Given the description of an element on the screen output the (x, y) to click on. 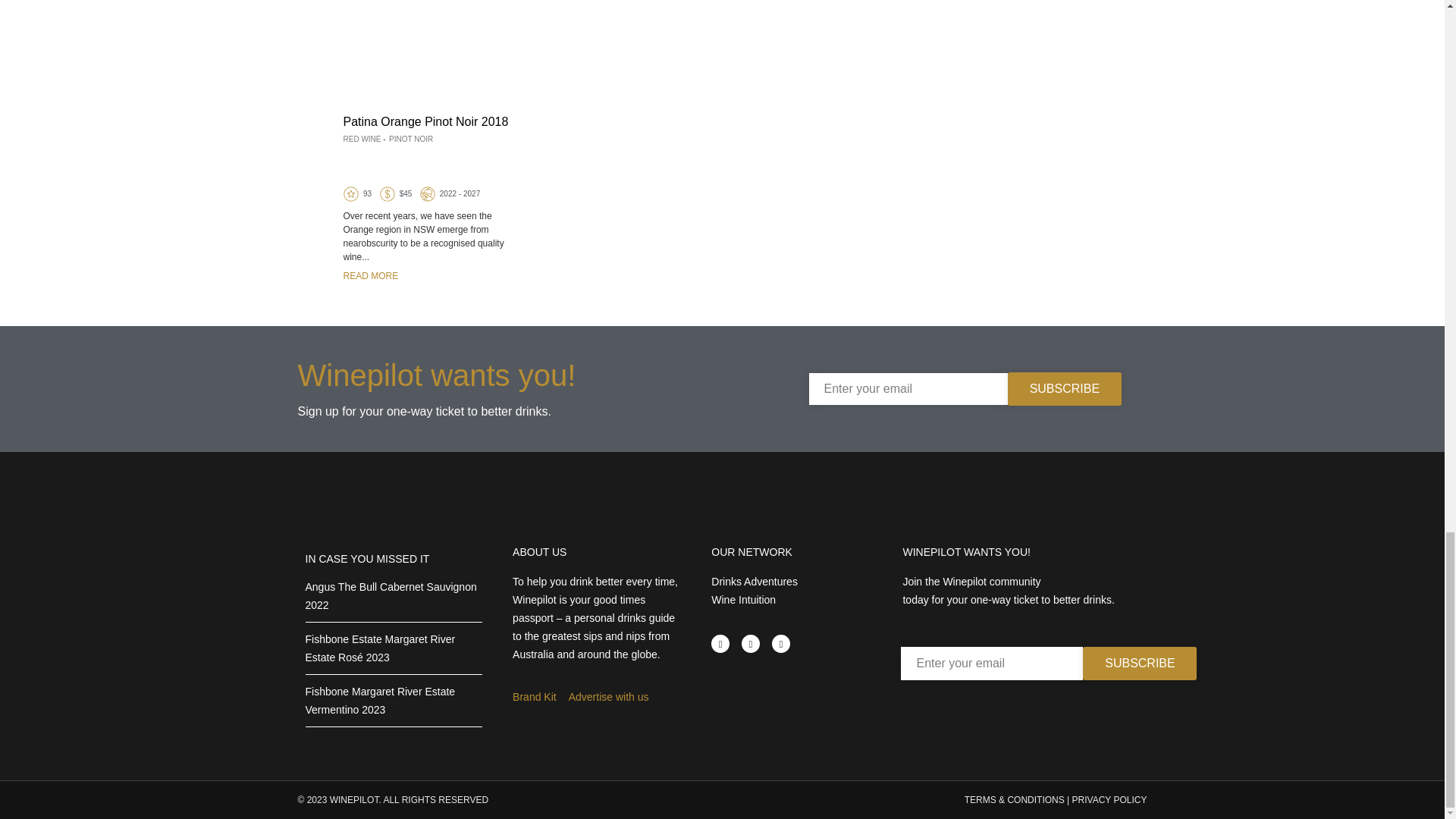
PINOT NOIR (410, 138)
RED WINE (361, 138)
SUBSCRIBE (1064, 388)
SUBSCRIBE (1139, 663)
READ MORE (369, 275)
